Given the description of an element on the screen output the (x, y) to click on. 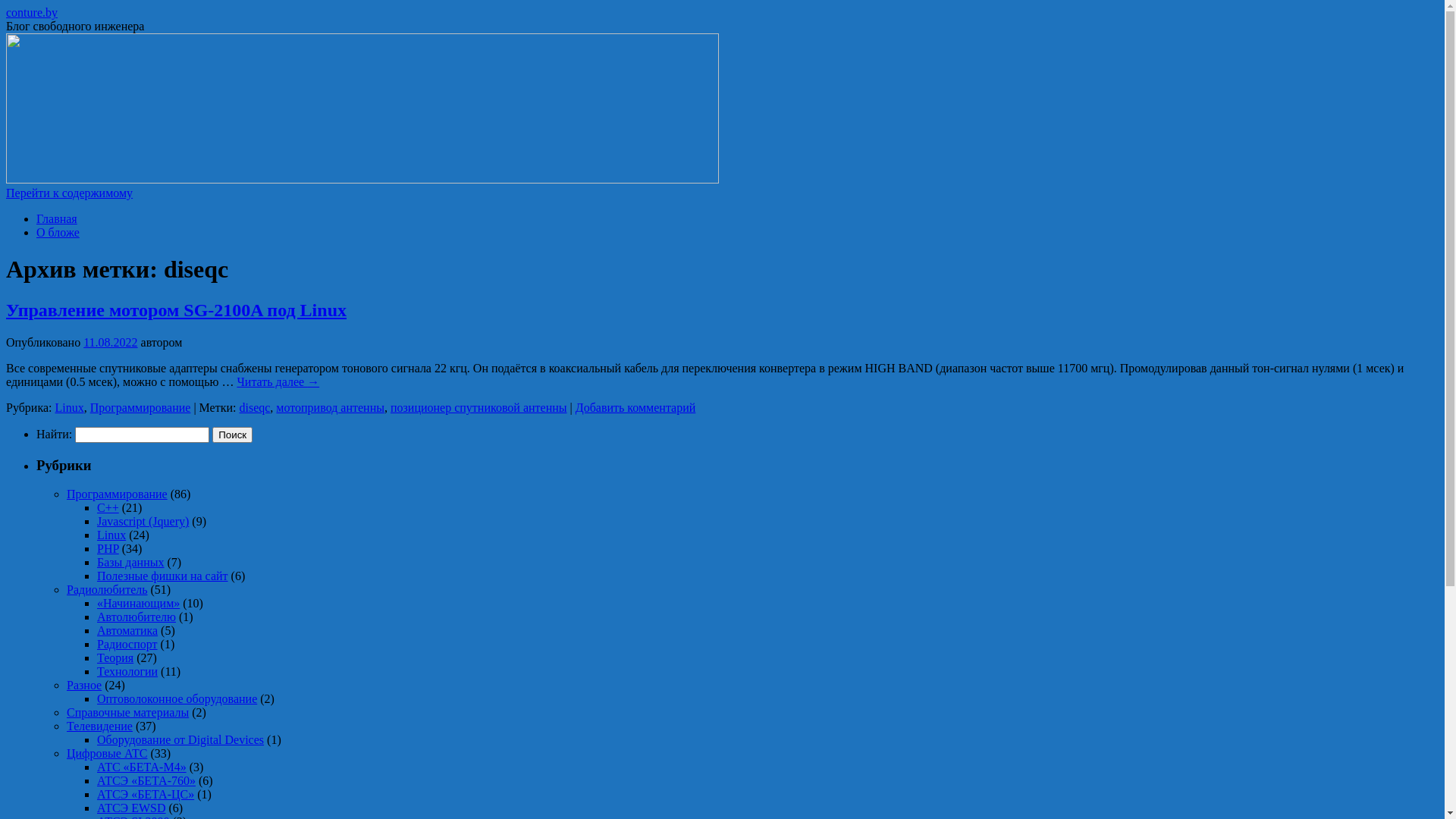
diseqc Element type: text (253, 407)
PHP Element type: text (108, 548)
11.08.2022 Element type: text (110, 341)
conture.by Element type: text (31, 12)
Linux Element type: text (68, 407)
Javascript (Jquery) Element type: text (142, 520)
C++ Element type: text (108, 507)
Linux Element type: text (111, 534)
